Given the description of an element on the screen output the (x, y) to click on. 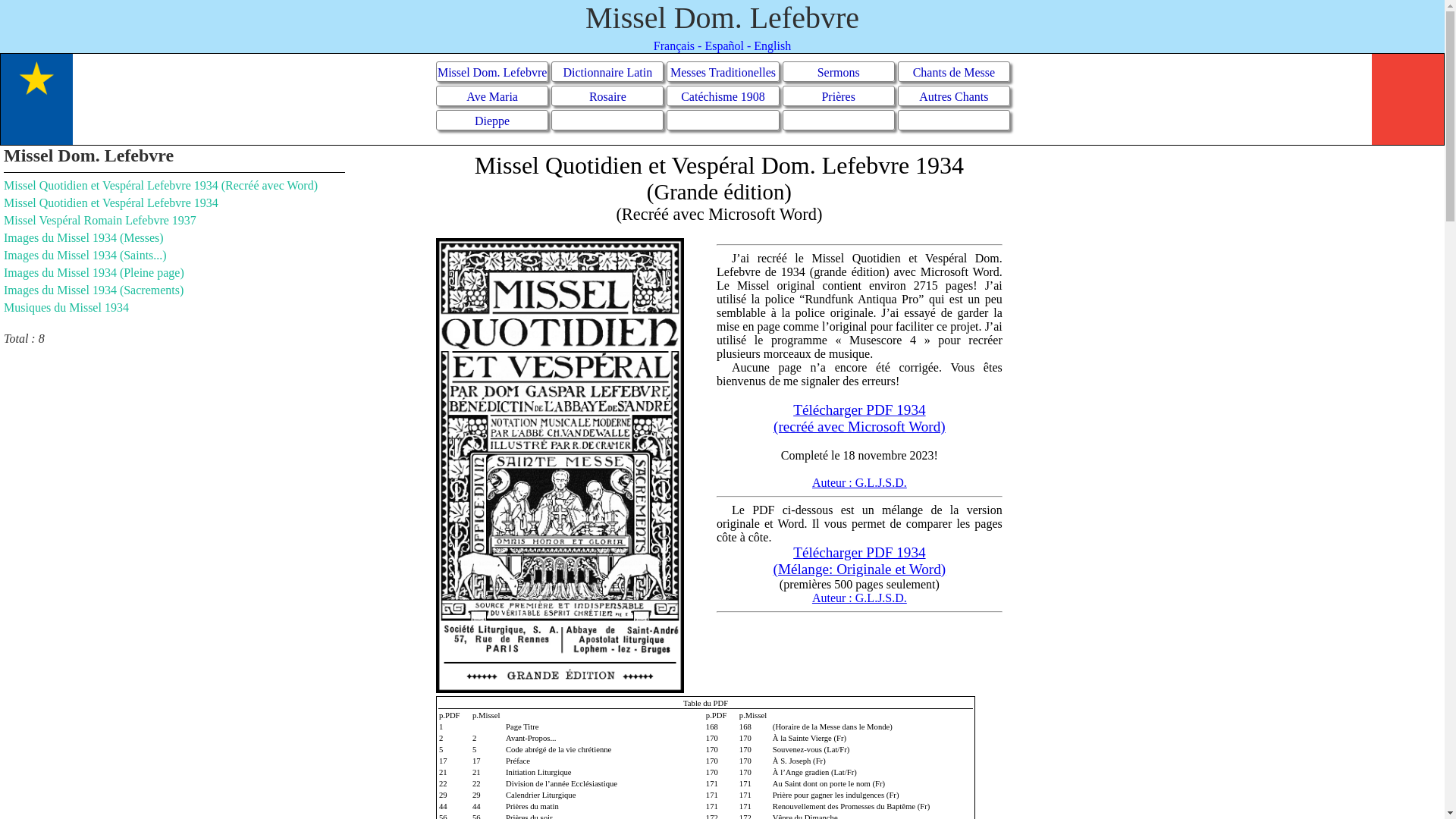
Images du Missel 1934 (Pleine page) Element type: text (93, 272)
Messes Traditionelles Element type: text (722, 71)
Dieppe Element type: text (492, 119)
Chants de Messe Element type: text (953, 71)
Images du Missel 1934 (Saints...) Element type: text (84, 254)
Dictionnaire Latin Element type: text (607, 71)
Images du Missel 1934 (Sacrements) Element type: text (93, 289)
English Element type: text (771, 45)
Images du Missel 1934 (Messes) Element type: text (83, 237)
Autres Chants Element type: text (953, 95)
  Element type: text (953, 119)
  Element type: text (838, 119)
  Element type: text (607, 119)
Ave Maria Element type: text (492, 95)
Rosaire Element type: text (607, 95)
Sermons Element type: text (838, 71)
  Element type: text (722, 119)
Missel Dom. Lefebvre Element type: text (492, 71)
Musiques du Missel 1934 Element type: text (65, 307)
